Given the description of an element on the screen output the (x, y) to click on. 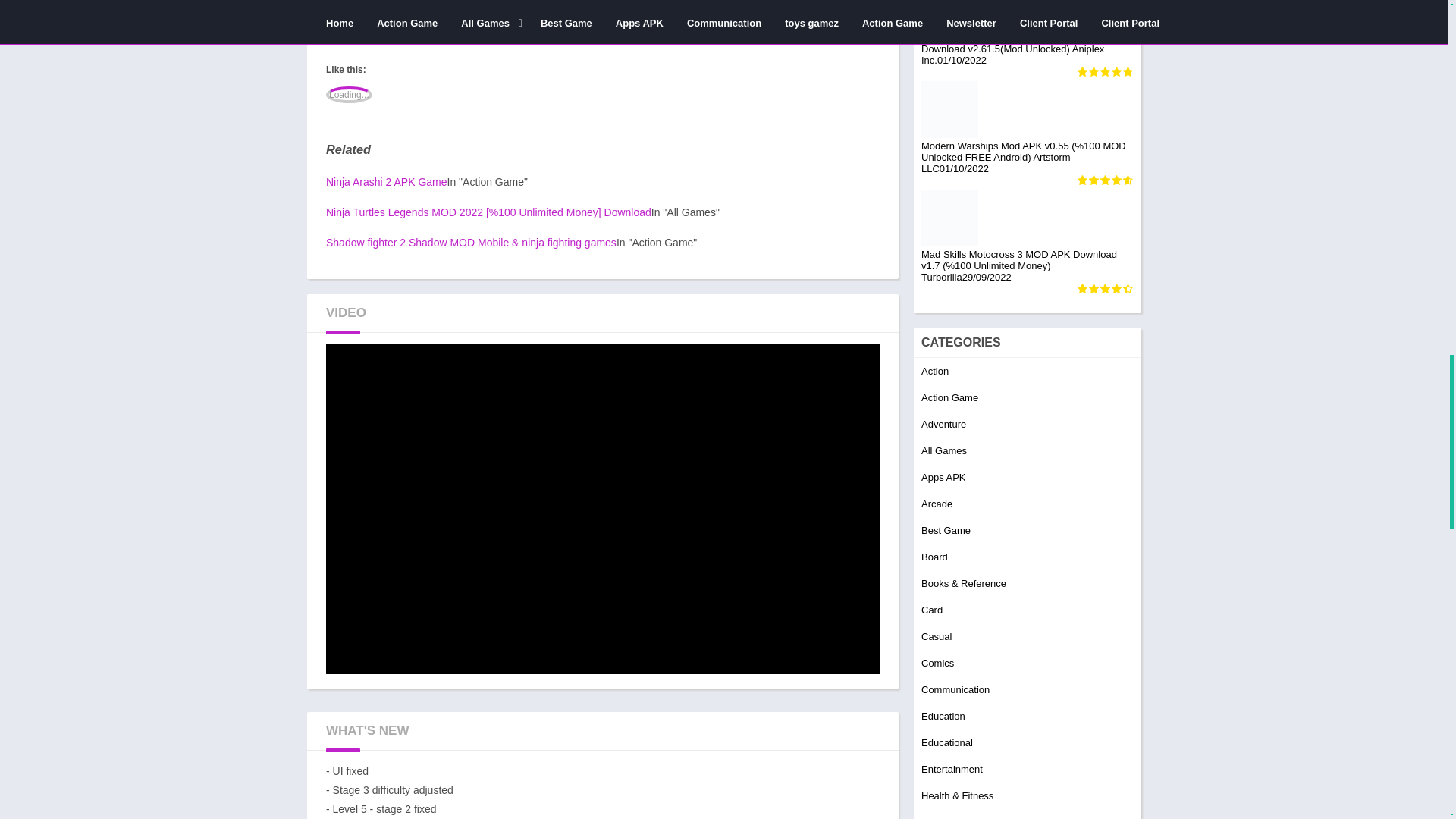
Click to share on Twitter (428, 8)
Click to share on Facebook (644, 8)
